Given the description of an element on the screen output the (x, y) to click on. 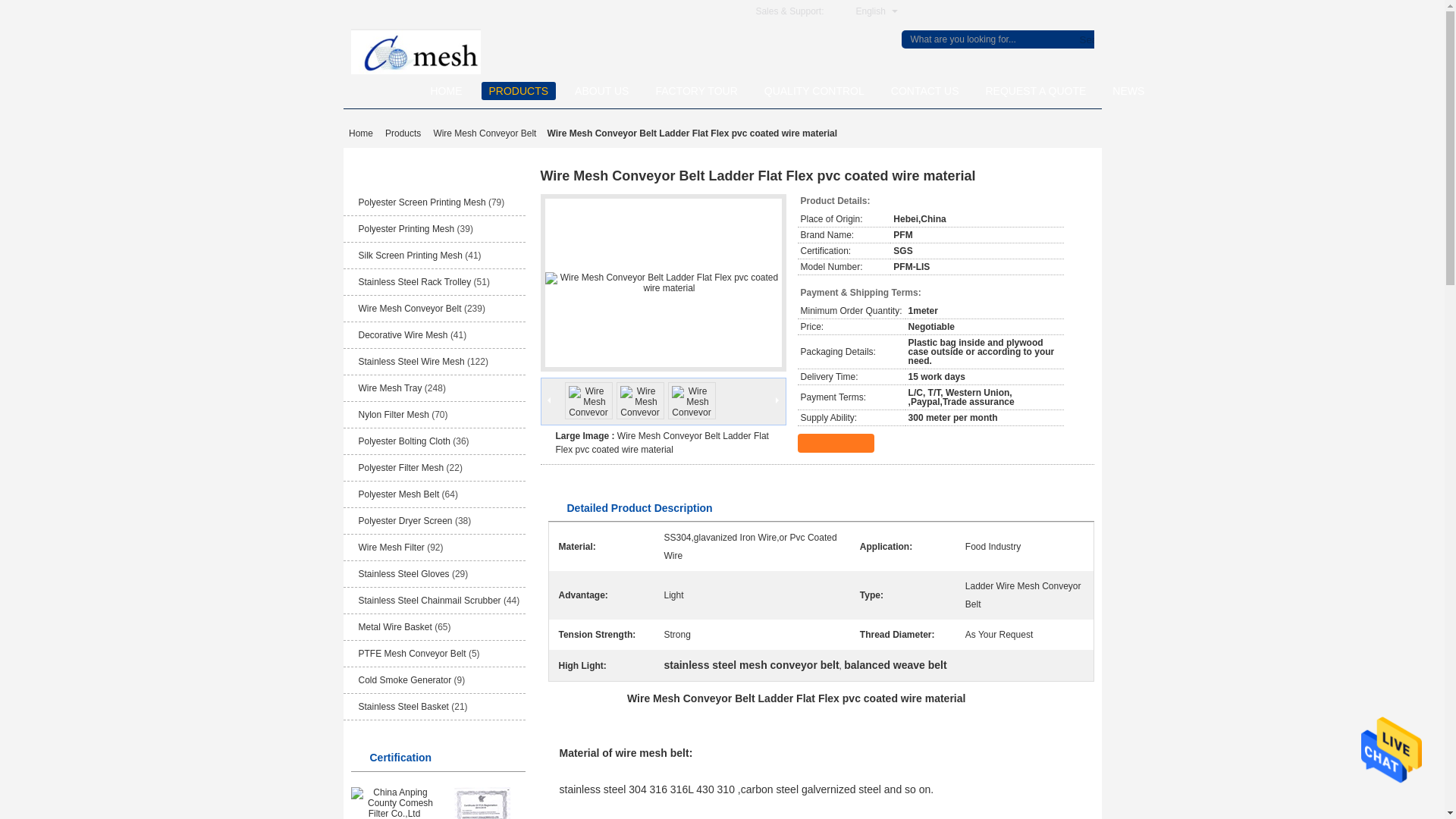
ABOUT US (601, 90)
Wire Mesh Conveyor Belt (483, 132)
Stainless Steel Rack Trolley (414, 281)
HOME (446, 90)
QUALITY CONTROL (814, 90)
FACTORY TOUR (695, 90)
Search (1082, 38)
Polyester Printing Mesh (406, 228)
Silk Screen Printing Mesh (409, 255)
NEWS (1128, 90)
